Given the description of an element on the screen output the (x, y) to click on. 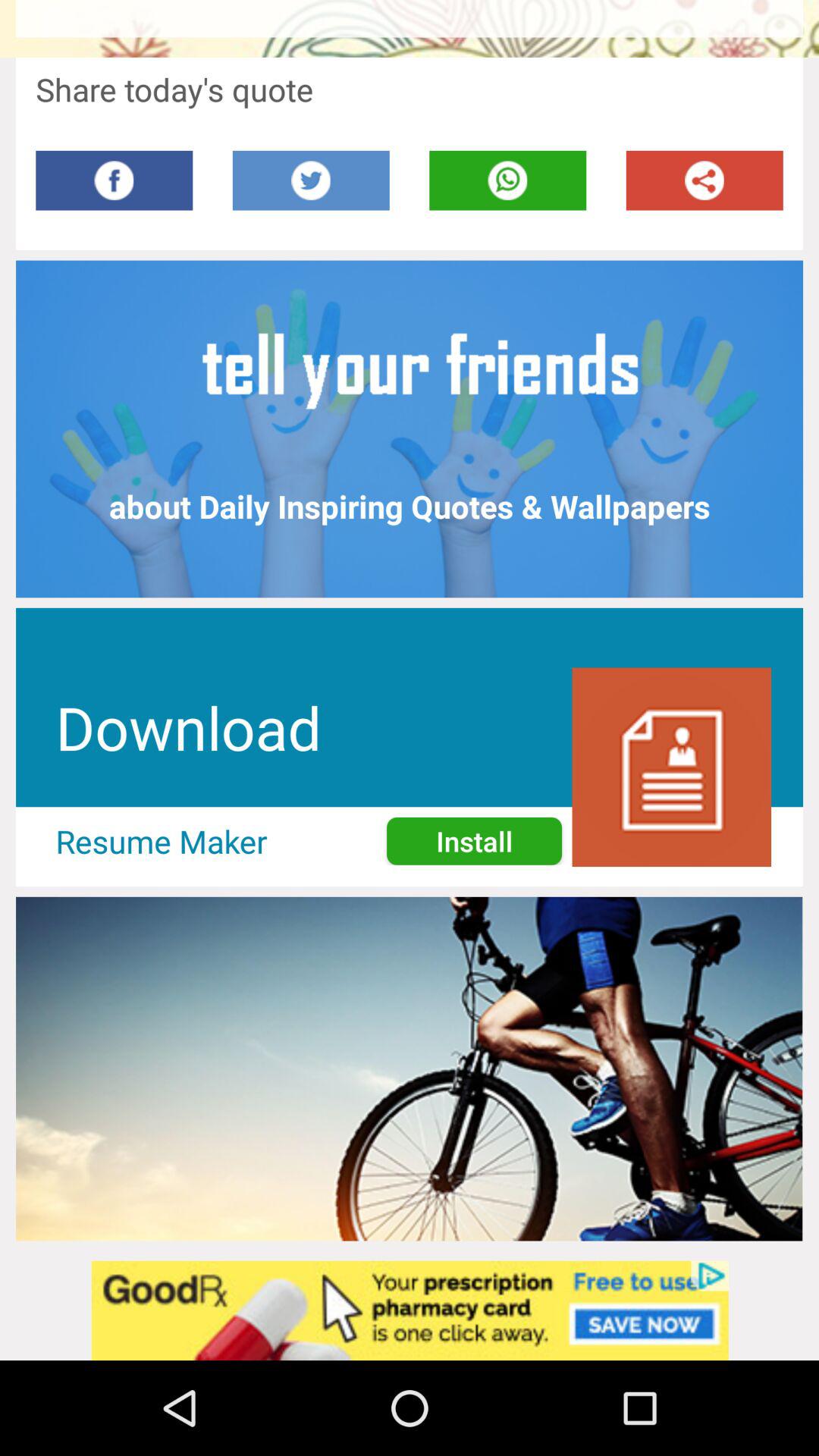
twitter (310, 180)
